Given the description of an element on the screen output the (x, y) to click on. 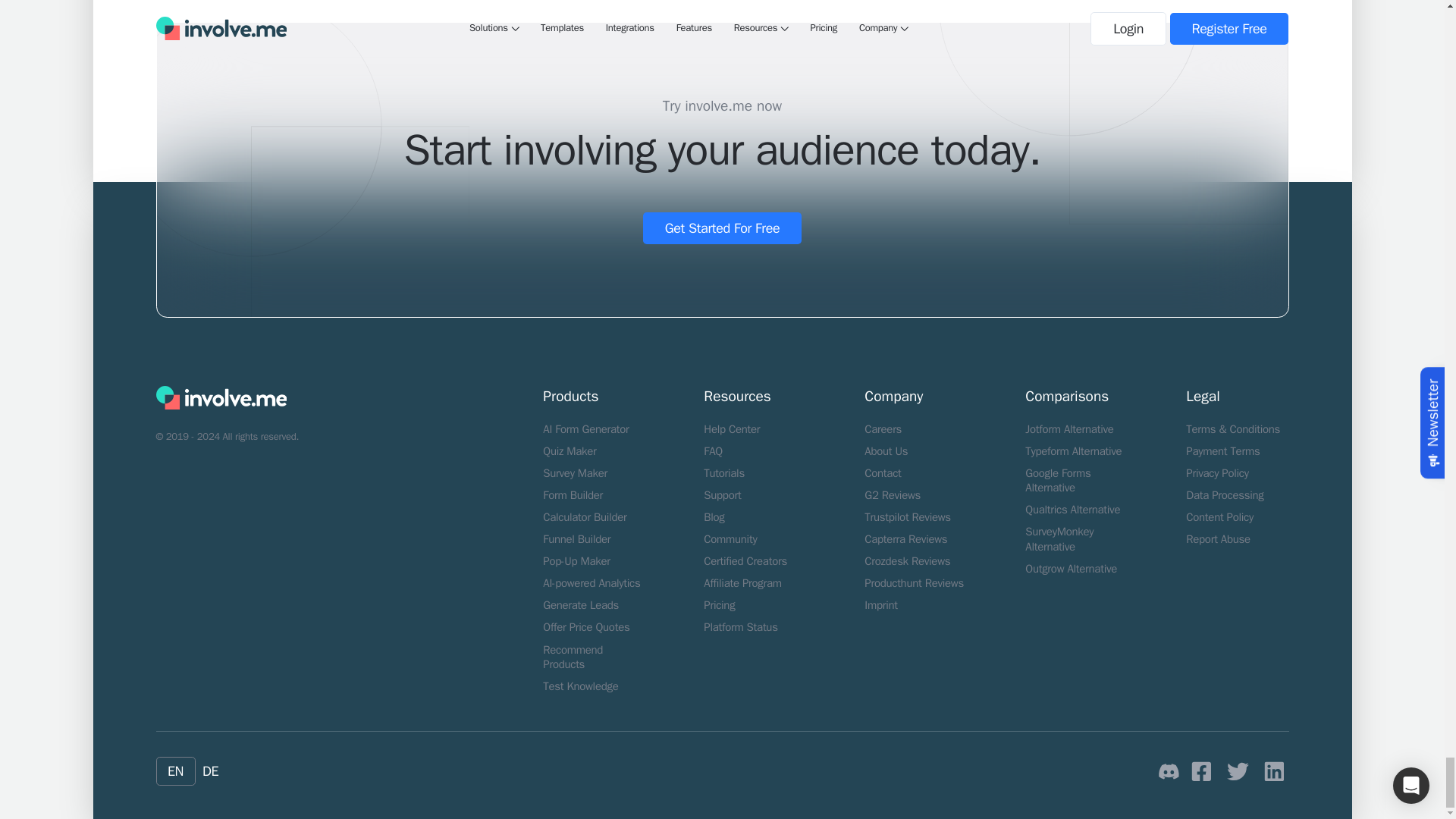
Quiz Maker (569, 450)
Survey Maker (575, 472)
AI Form Generator (585, 428)
